Given the description of an element on the screen output the (x, y) to click on. 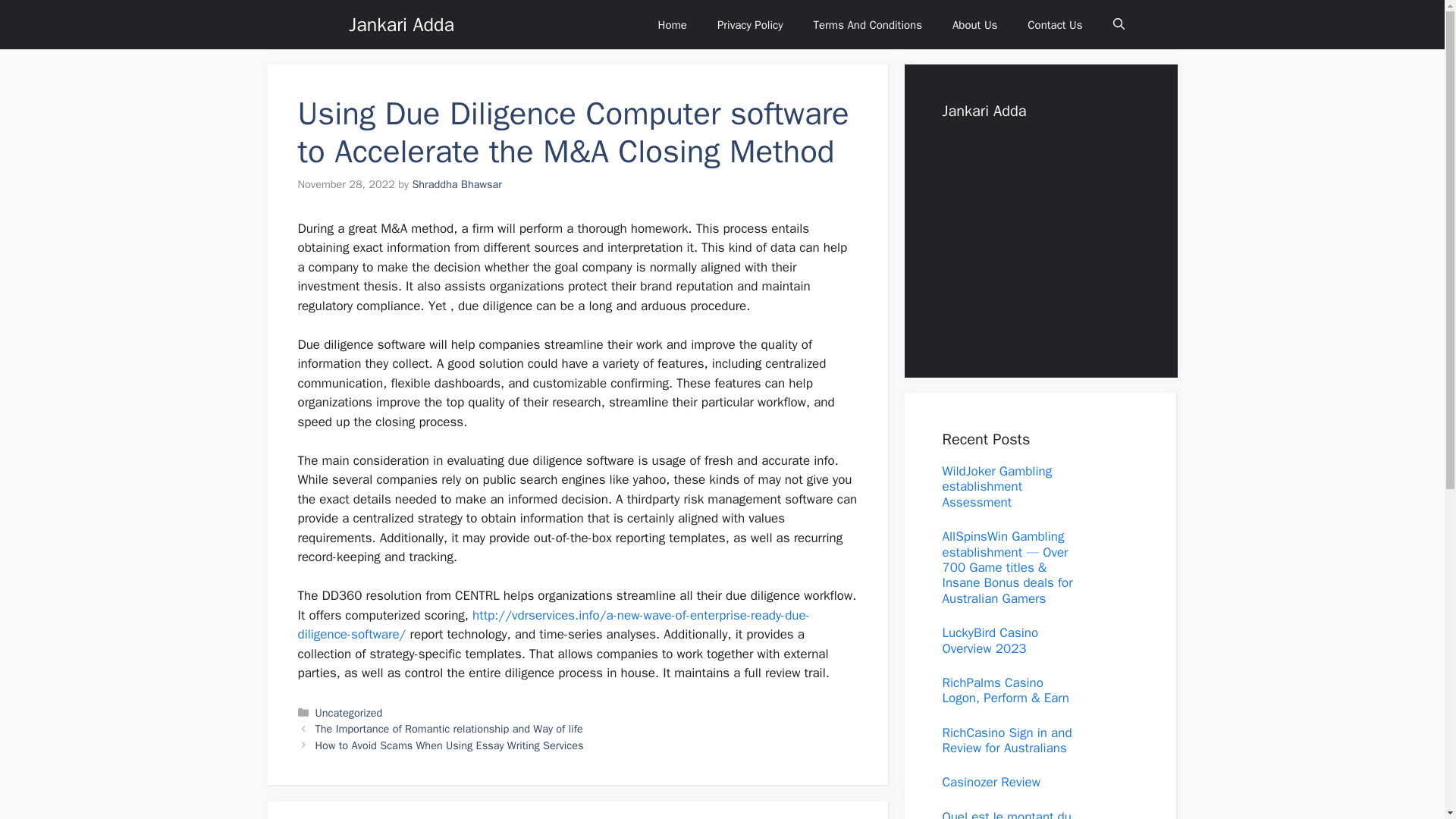
The Importance of Romantic relationship and Way of life (449, 728)
Uncategorized (348, 712)
Shraddha Bhawsar (457, 183)
RichCasino Sign in and Review for Australians (1006, 739)
About Us (974, 23)
Privacy Policy (749, 23)
View all posts by Shraddha Bhawsar (457, 183)
How to Avoid Scams When Using Essay Writing Services (449, 745)
LuckyBird Casino Overview 2023 (990, 640)
Home (672, 23)
Jankari Adda (322, 24)
Contact Us (1054, 23)
Jankari Adda (401, 24)
WildJoker Gambling establishment Assessment (996, 486)
